Given the description of an element on the screen output the (x, y) to click on. 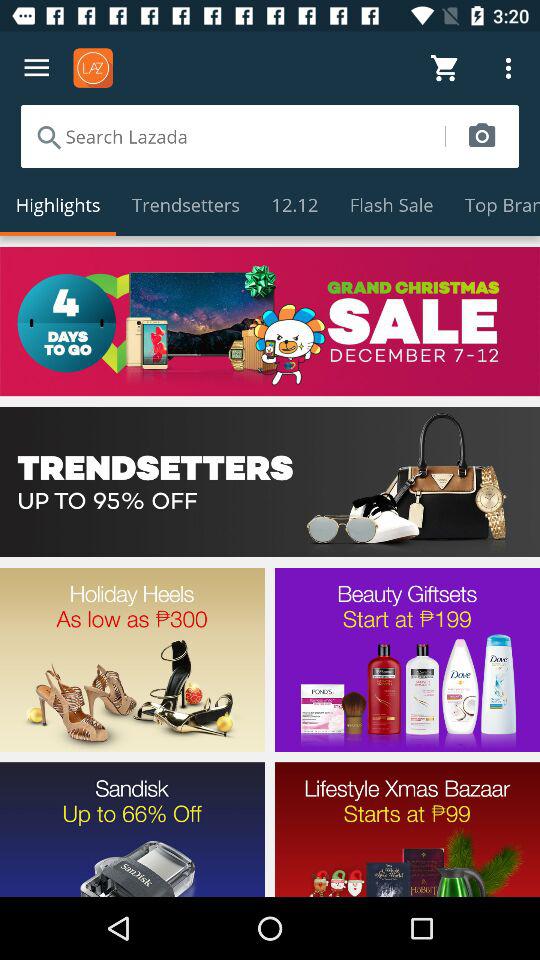
turn off the item above the highlights item (232, 136)
